Given the description of an element on the screen output the (x, y) to click on. 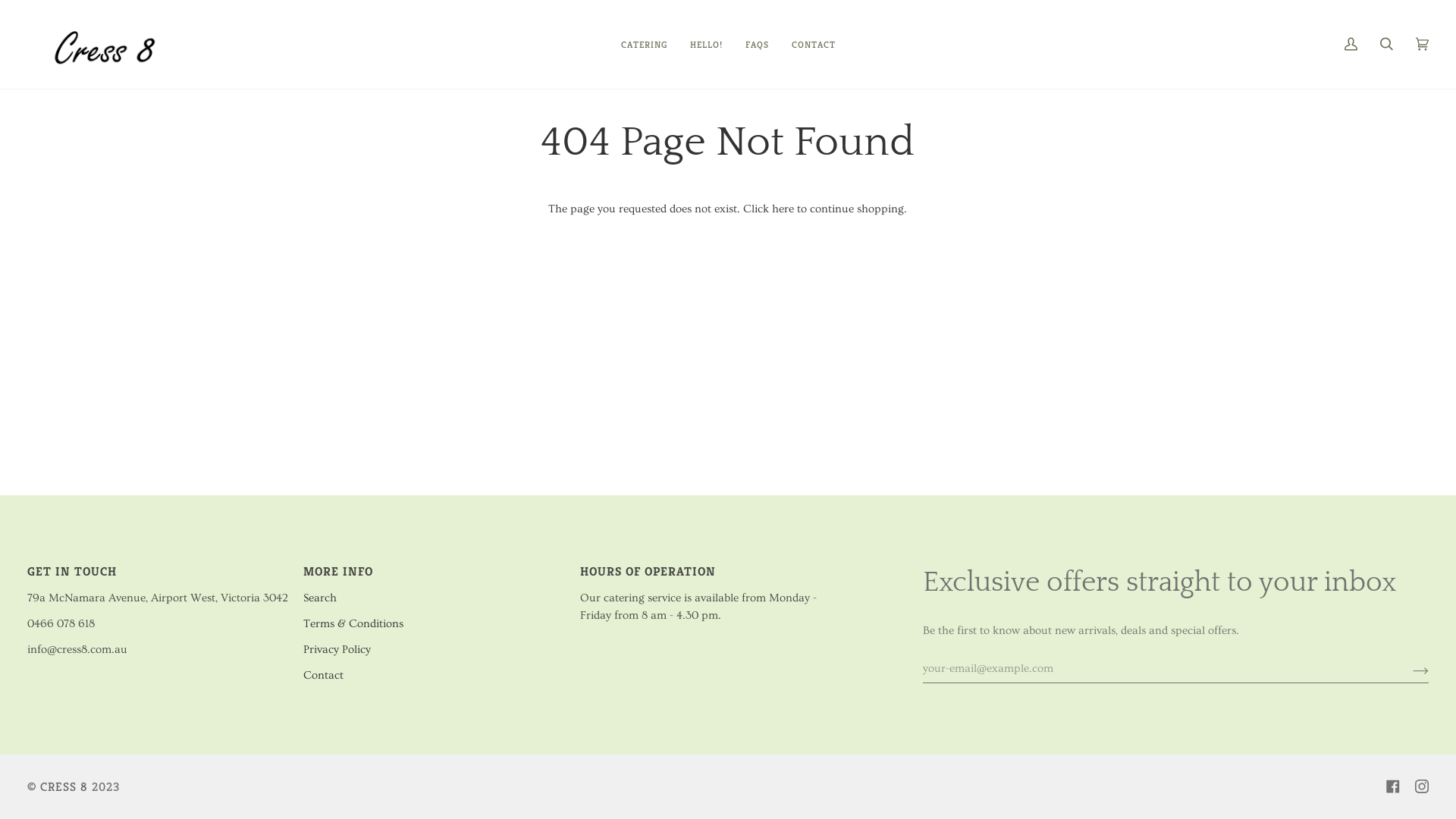
CRESS 8 Element type: text (63, 785)
MY ACCOUNT Element type: text (1350, 44)
INSTAGRAM Element type: text (1421, 786)
Terms & Conditions Element type: text (353, 623)
FAQS Element type: text (757, 44)
CATERING Element type: text (643, 44)
Search Element type: text (319, 597)
SEARCH Element type: text (1386, 44)
Privacy Policy Element type: text (336, 649)
Contact Element type: text (323, 674)
CONTACT Element type: text (812, 44)
FACEBOOK Element type: text (1392, 786)
HELLO! Element type: text (705, 44)
here Element type: text (782, 208)
CART
(0) Element type: text (1422, 44)
